Given the description of an element on the screen output the (x, y) to click on. 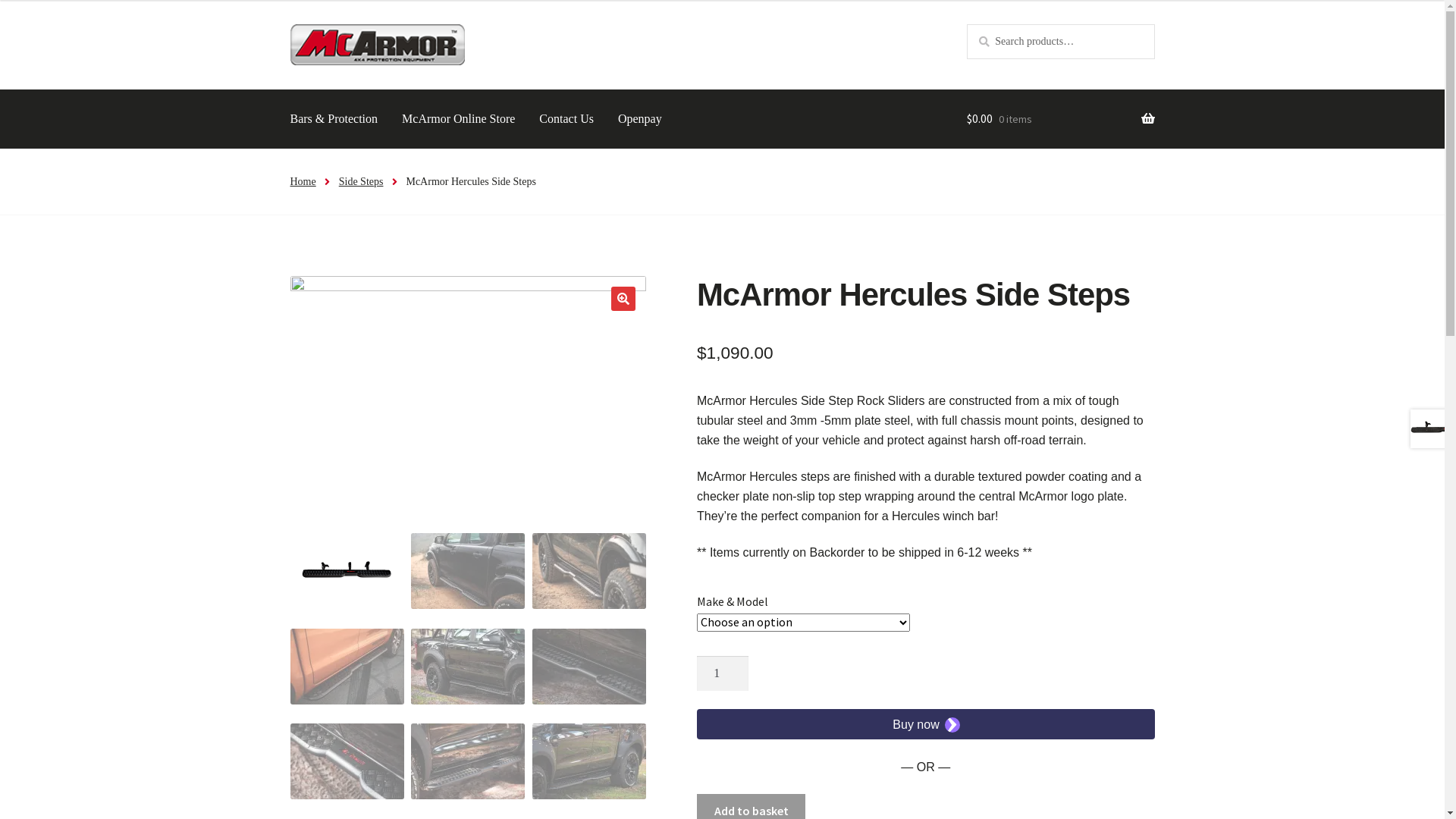
Bars & Protection Element type: text (333, 118)
Contact Us Element type: text (566, 118)
Search Element type: text (966, 23)
McArmor Online Store Element type: text (458, 118)
Openpay Element type: text (639, 118)
Side Steps Element type: text (360, 181)
Secure payment button frame Element type: hover (925, 724)
IMG_7891-2 Element type: hover (823, 394)
Home Element type: text (302, 181)
Hercules Steps Cutout Element type: hover (467, 394)
$0.00 0 items Element type: text (1060, 118)
